Given the description of an element on the screen output the (x, y) to click on. 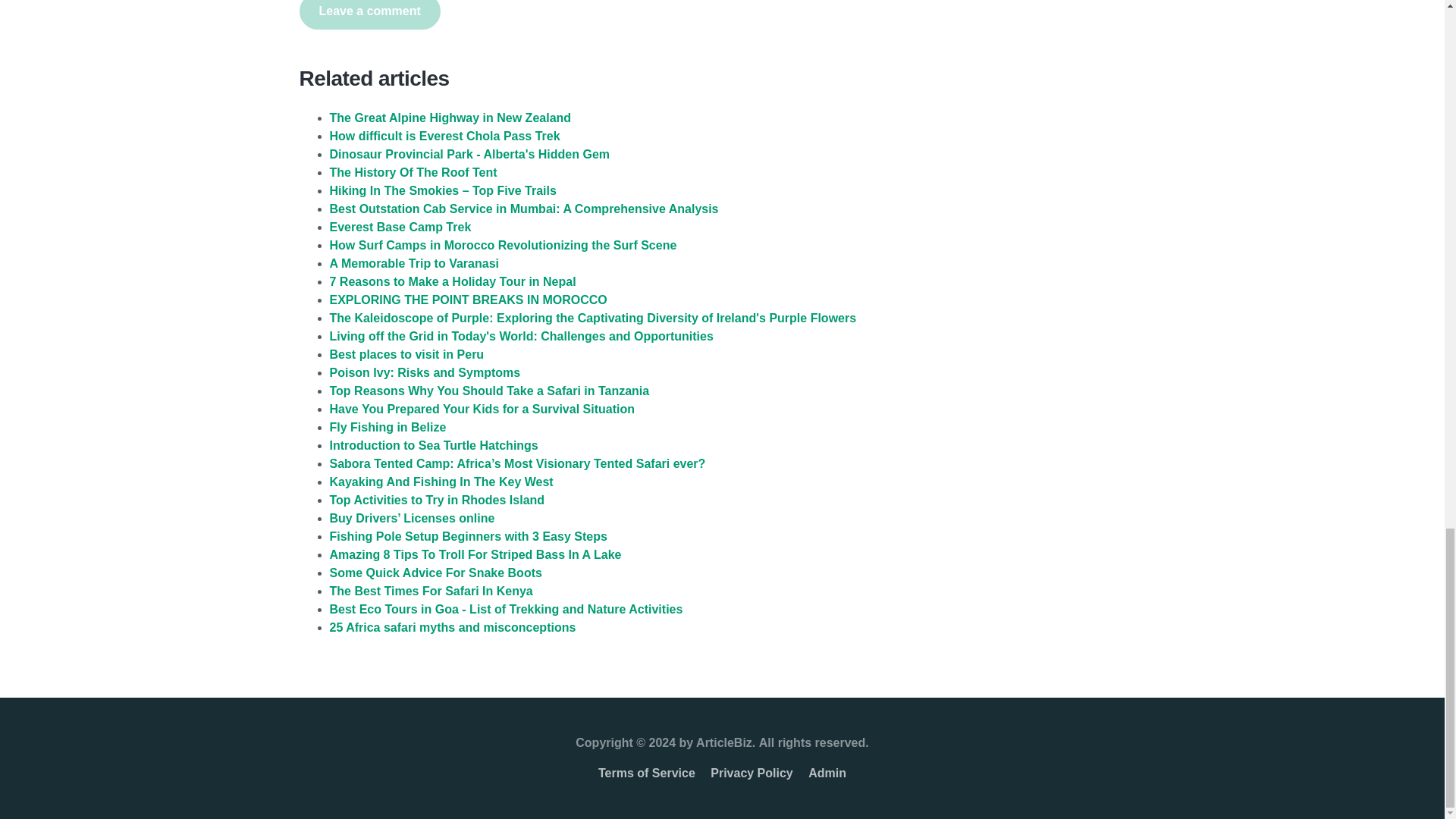
The History Of The Roof Tent (412, 172)
EXPLORING THE POINT BREAKS IN MOROCCO (468, 299)
How Surf Camps in Morocco Revolutionizing the Surf Scene (503, 245)
Everest Base Camp Trek (399, 226)
How difficult is Everest Chola Pass Trek (444, 135)
The Great Alpine Highway in New Zealand (449, 117)
Leave a comment (368, 14)
Dinosaur Provincial Park - Alberta's Hidden Gem (469, 154)
A Memorable Trip to Varanasi (413, 263)
7 Reasons to Make a Holiday Tour in Nepal (452, 281)
